Given the description of an element on the screen output the (x, y) to click on. 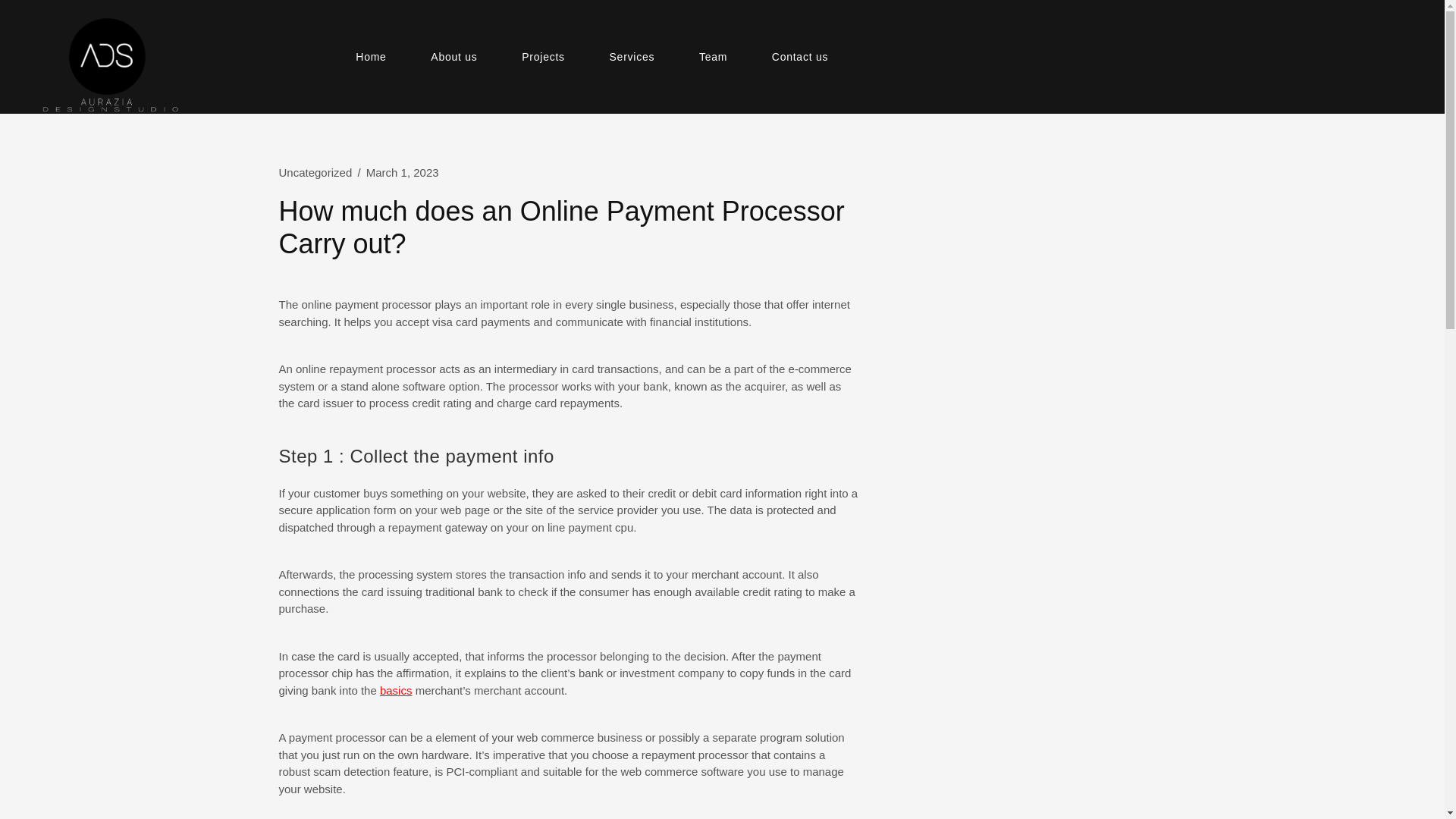
About us (453, 56)
Services (632, 56)
Contact us (799, 56)
